Given the description of an element on the screen output the (x, y) to click on. 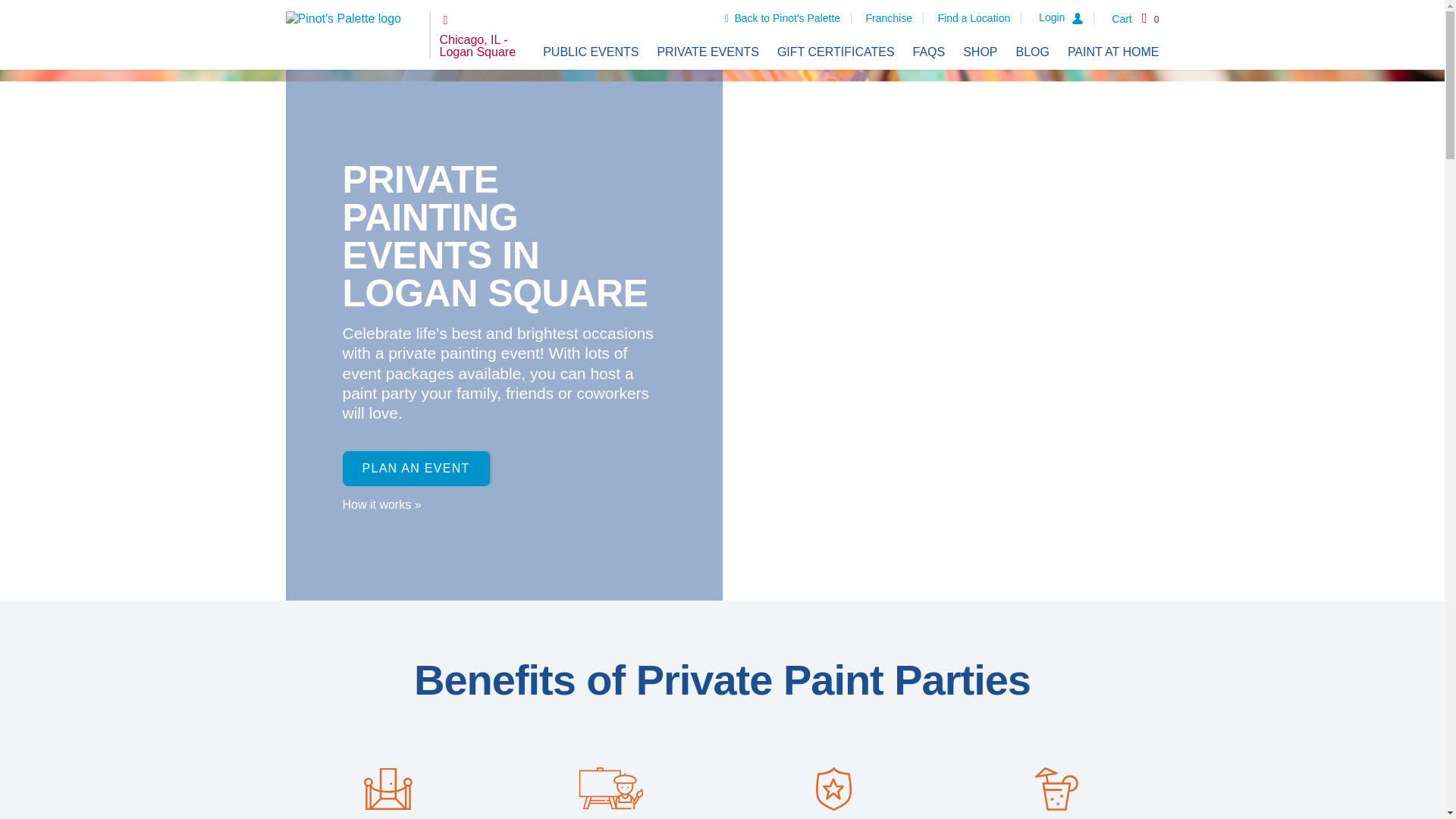
Events at Logan Square Pinot's Palette (591, 51)
SHOP (979, 51)
Logan Square Homepage (352, 34)
GIFT CERTIFICATES (836, 51)
PUBLIC EVENTS (591, 51)
PRIVATE EVENTS (707, 51)
Private Events at Logan Square Pinot's Palette (707, 51)
LoginShape (1066, 18)
Logan Square Pinot's Palette FAQs (928, 51)
Cart 0 (1135, 18)
